Given the description of an element on the screen output the (x, y) to click on. 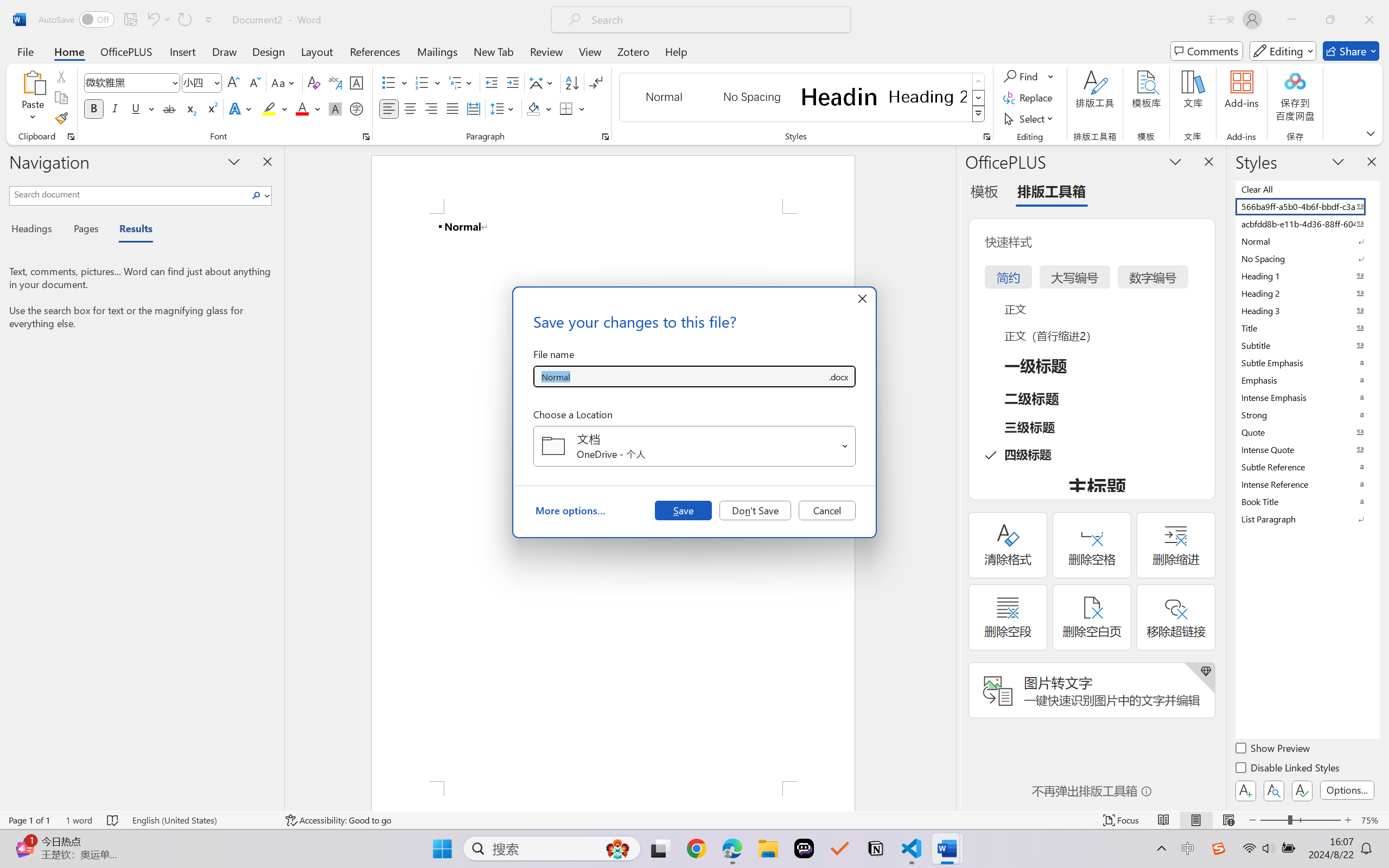
Character Shading (334, 108)
Subtle Reference (1306, 466)
New Tab (493, 51)
Bullets (388, 82)
Increase Indent (512, 82)
AutomationID: BadgeAnchorLargeTicker (24, 836)
No Spacing (1306, 258)
Intense Reference (1306, 484)
Layout (316, 51)
